Given the description of an element on the screen output the (x, y) to click on. 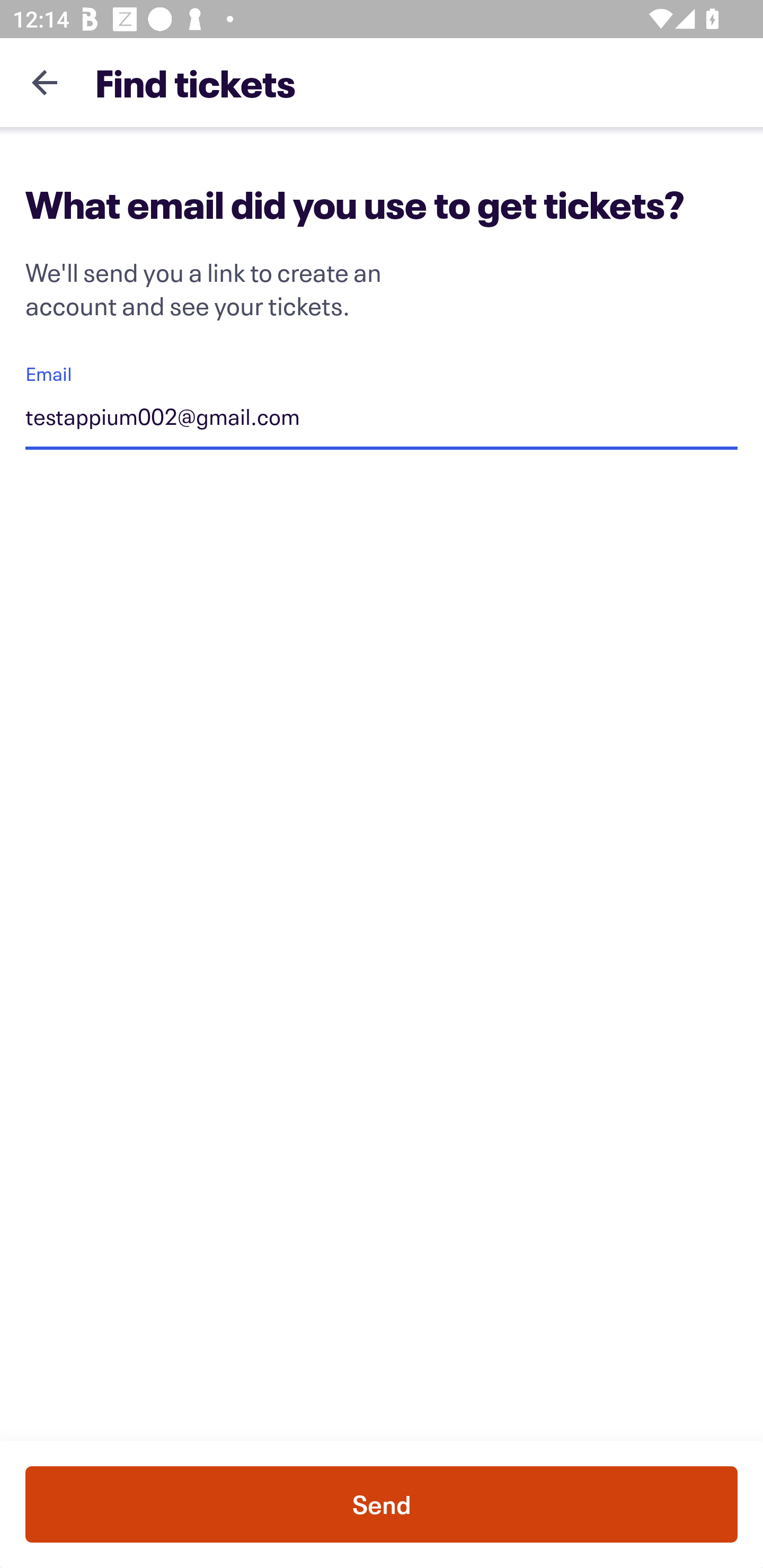
Navigate up (44, 82)
testappium002@gmail.com (381, 419)
Send (381, 1504)
